Given the description of an element on the screen output the (x, y) to click on. 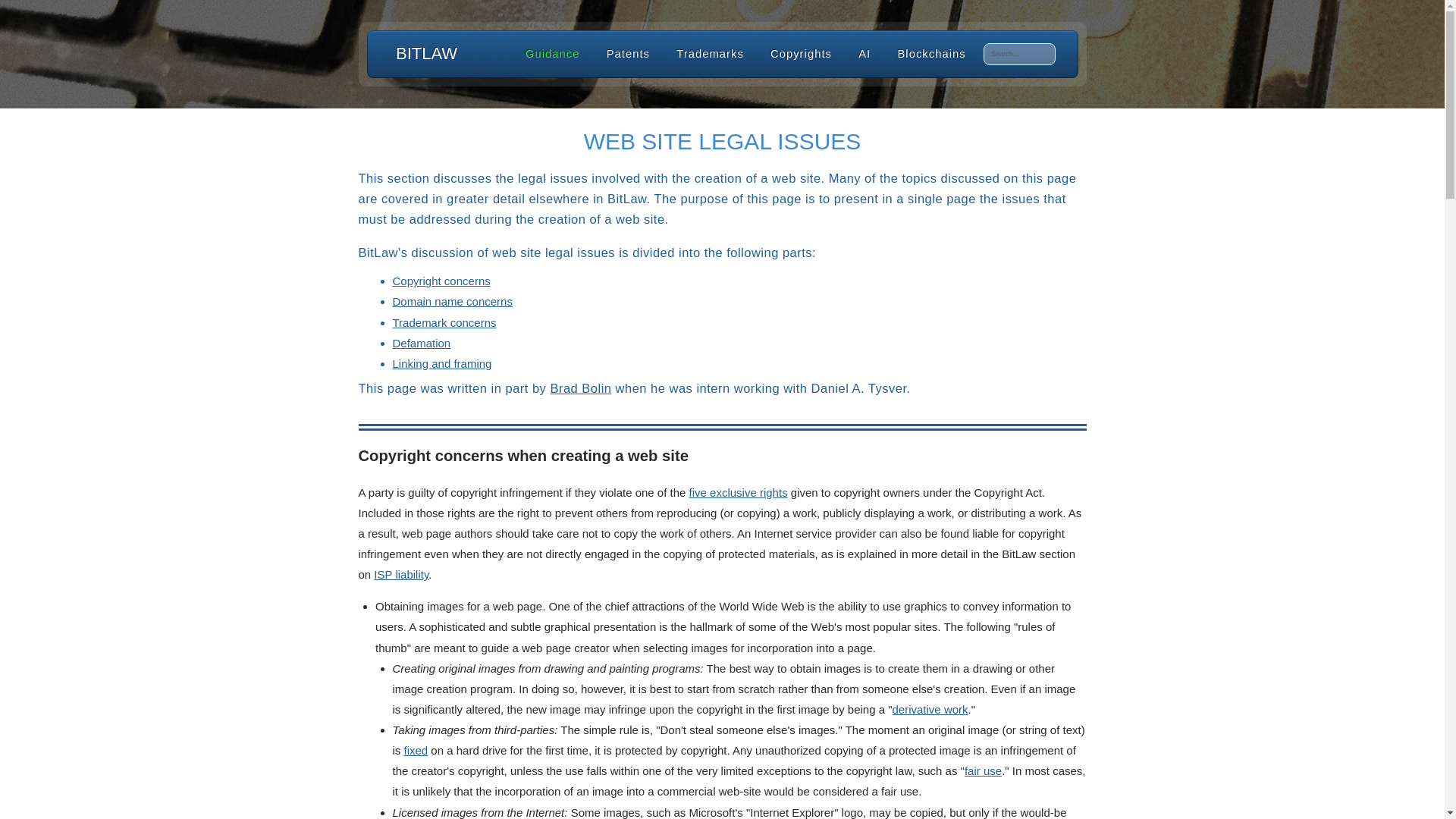
Home (426, 53)
